Given the description of an element on the screen output the (x, y) to click on. 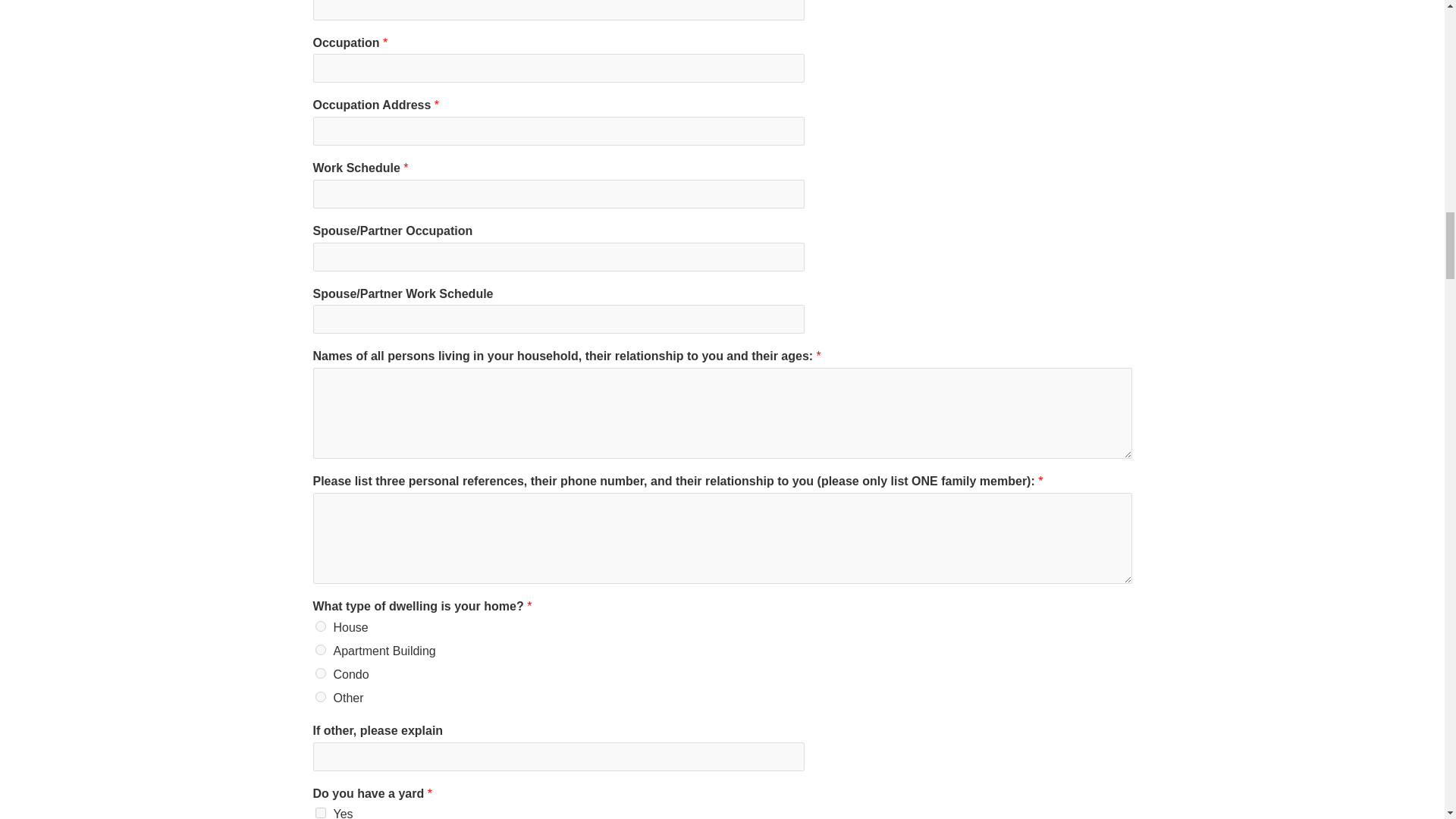
House (320, 625)
